Given the description of an element on the screen output the (x, y) to click on. 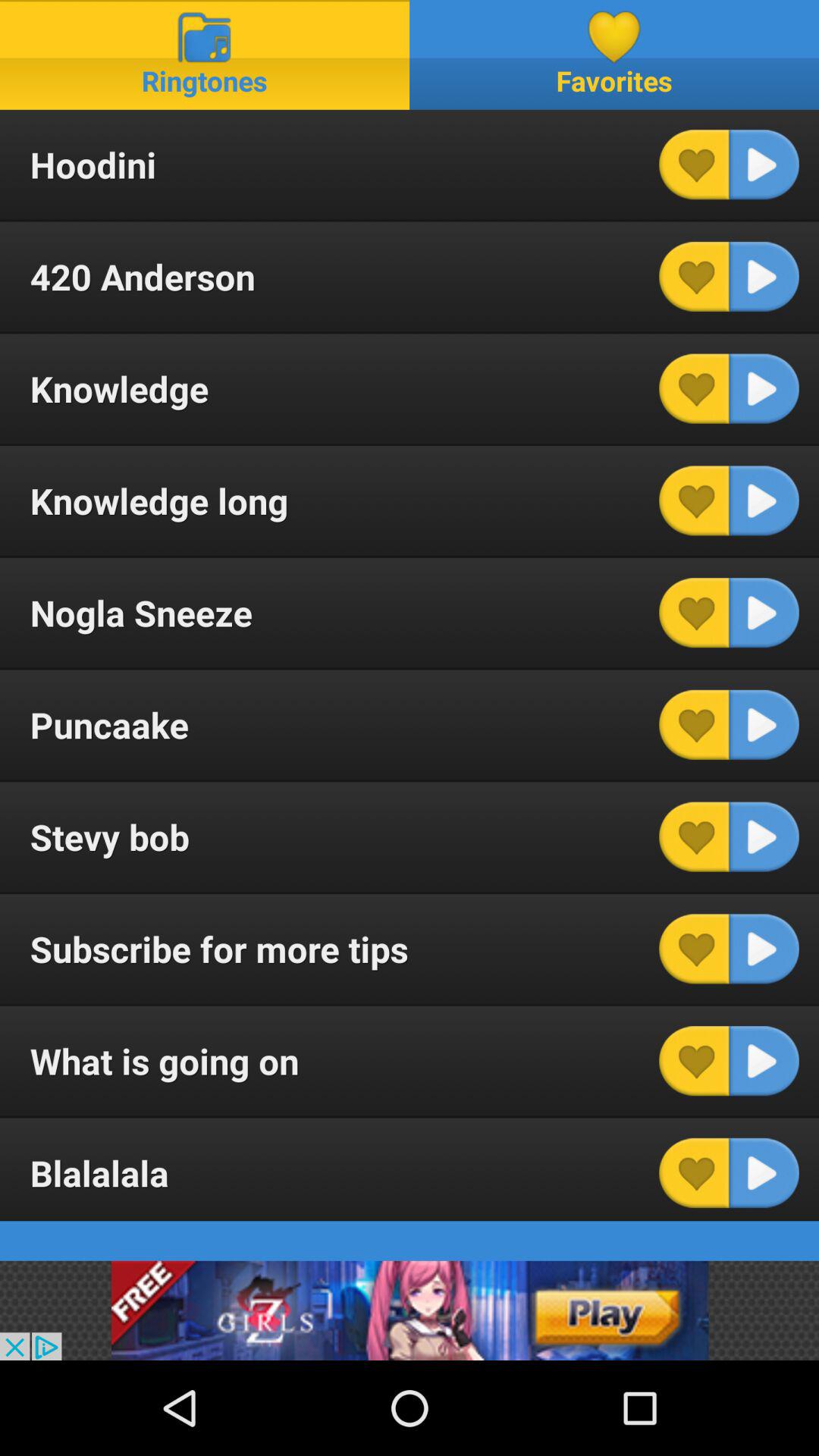
favorite (694, 1060)
